Given the description of an element on the screen output the (x, y) to click on. 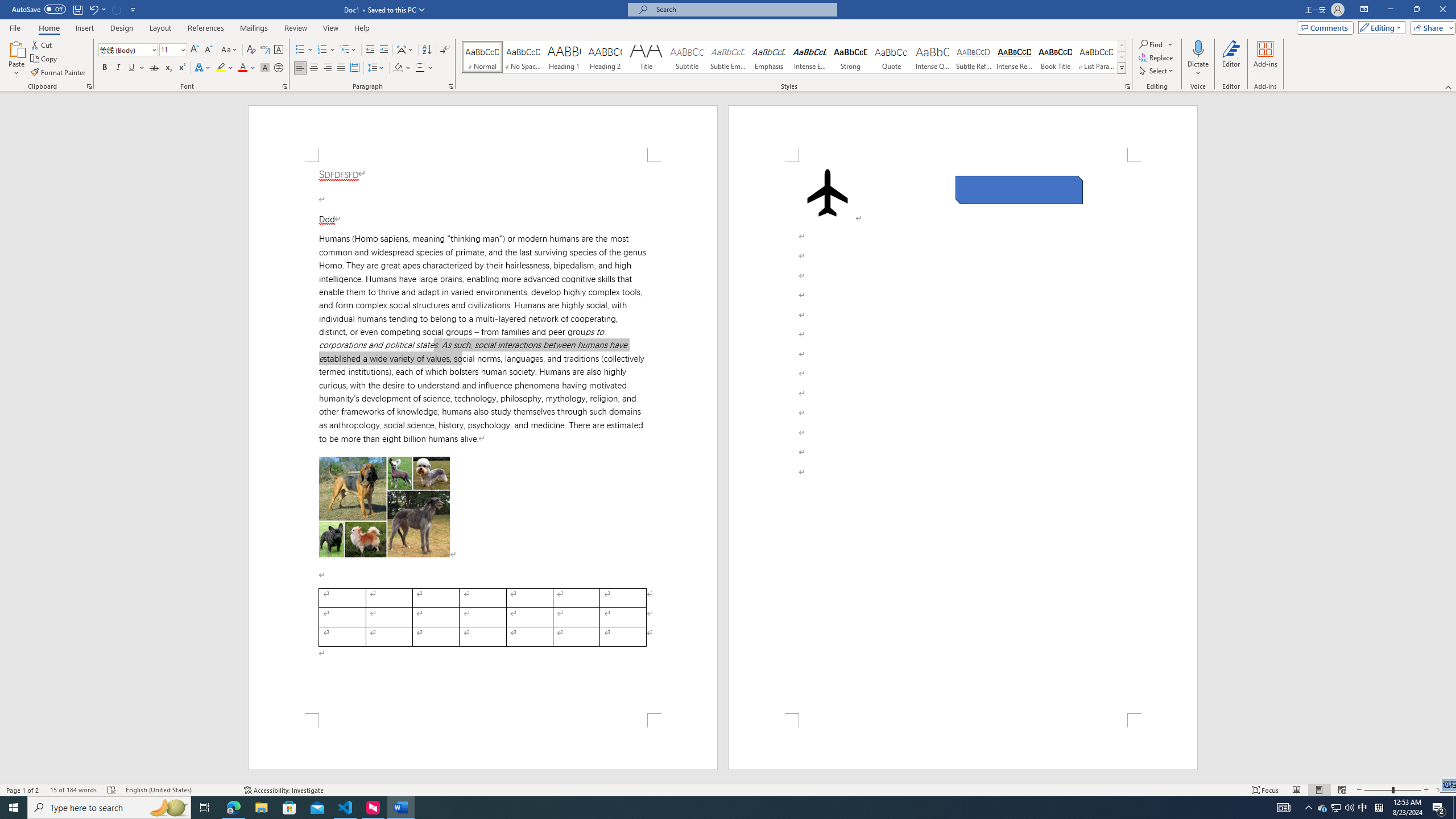
Strong (849, 56)
AutomationID: QuickStylesGallery (794, 56)
Styles (1121, 67)
Heading 2 (605, 56)
Dictate (1197, 48)
Airplane with solid fill (827, 192)
Design (122, 28)
Select (1157, 69)
Font Size (172, 49)
Open (182, 49)
Character Shading (264, 67)
Page Number Page 1 of 2 (22, 790)
System (6, 6)
Phonetic Guide... (264, 49)
Zoom 104% (1443, 790)
